Given the description of an element on the screen output the (x, y) to click on. 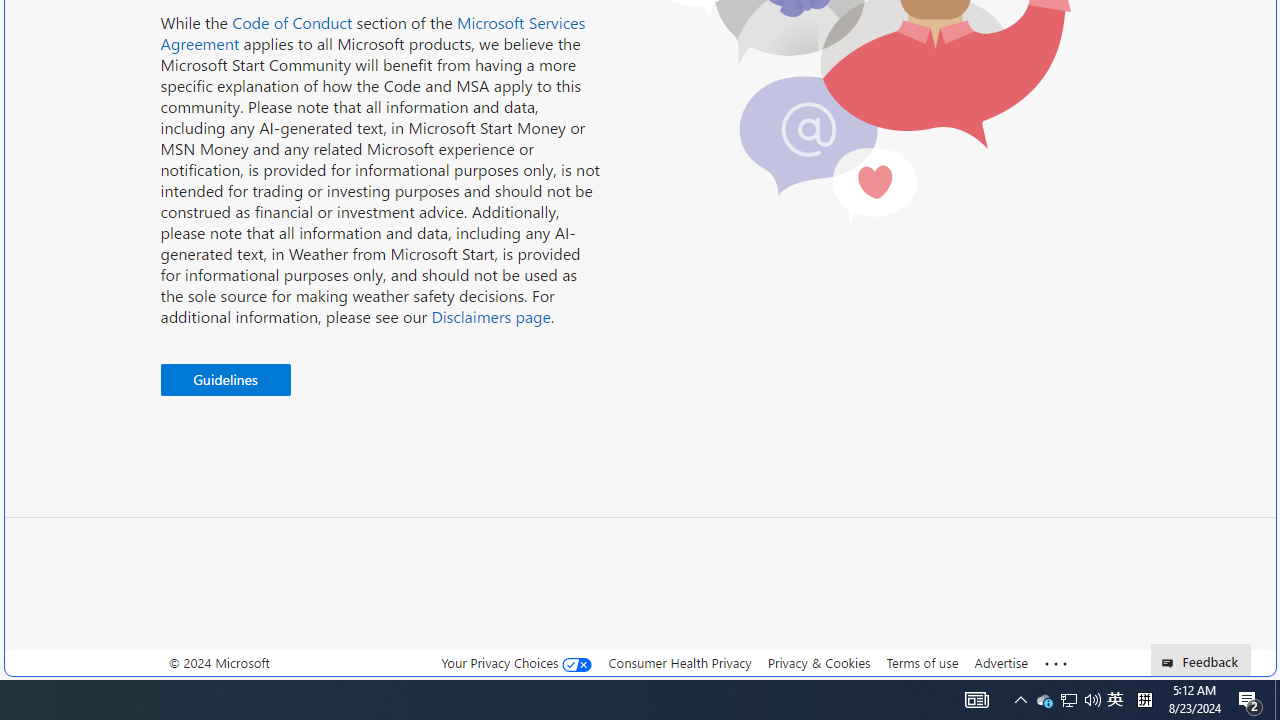
Your Privacy Choices (516, 663)
Disclaimers page (490, 316)
Class: oneFooter_seeMore-DS-EntryPoint1-1 (1055, 663)
Code of Conduct (292, 22)
Class: feedback_link_icon-DS-EntryPoint1-1 (1170, 663)
Guidelines  (225, 380)
Your Privacy Choices (516, 662)
